Given the description of an element on the screen output the (x, y) to click on. 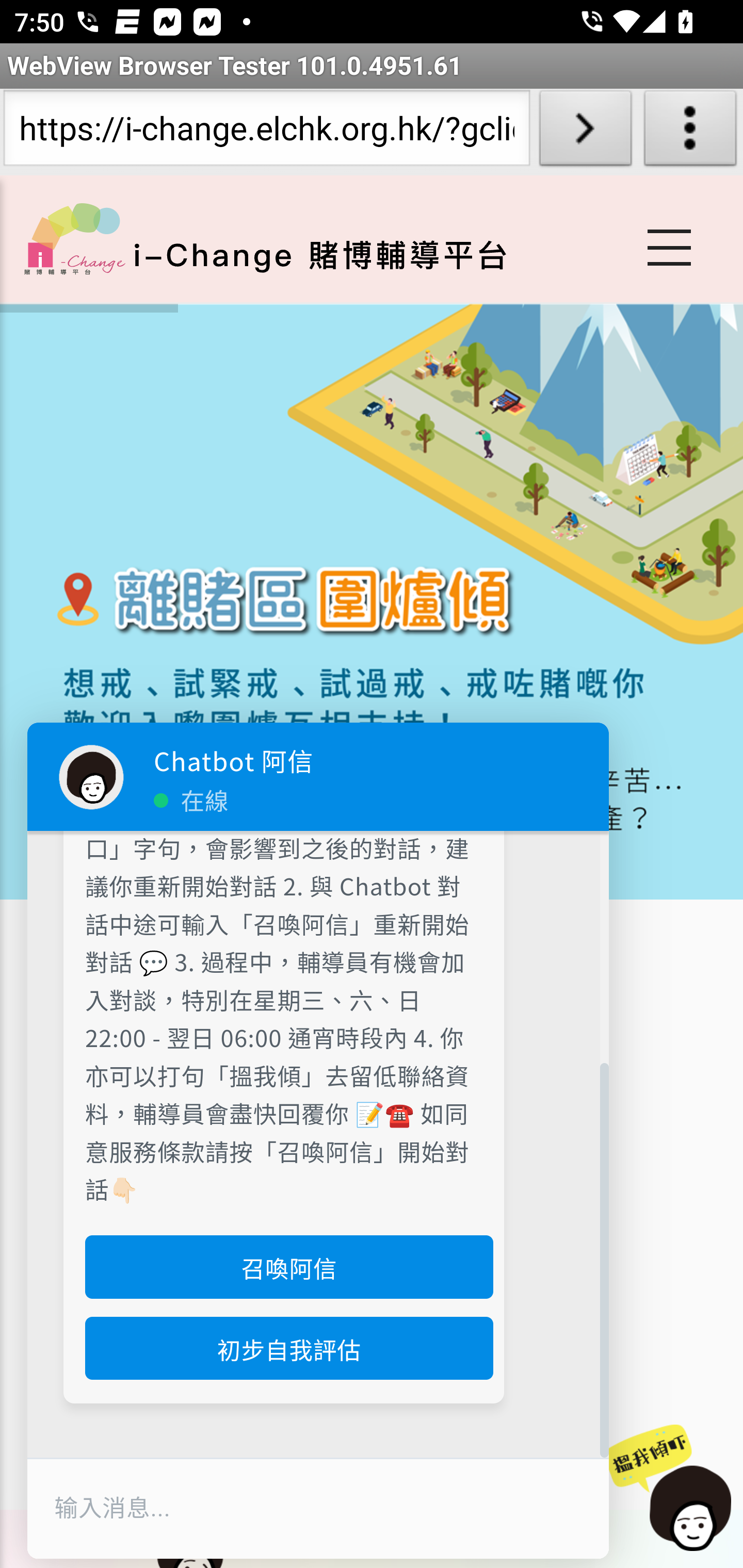
Load URL (585, 132)
About WebView (690, 132)
Home (74, 238)
Chat Now (676, 1488)
